Given the description of an element on the screen output the (x, y) to click on. 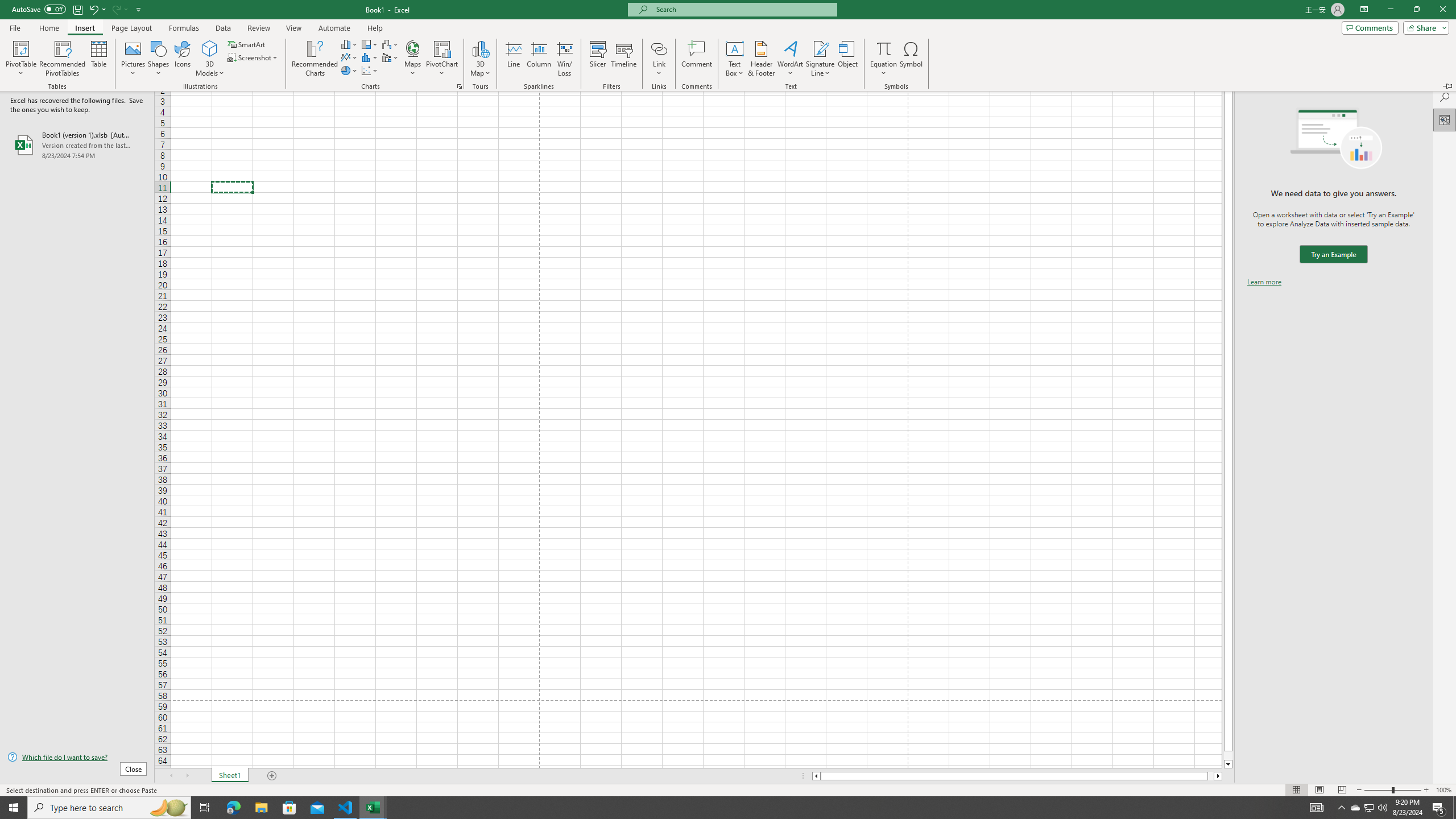
Data (223, 28)
Restore Down (1416, 9)
Customize Quick Access Toolbar (139, 9)
More Options (125, 9)
User Promoted Notification Area (1368, 807)
Visual Studio Code - 1 running window (345, 807)
Scroll Right (187, 775)
Excel - 2 running windows (373, 807)
AutomationID: 4105 (1316, 807)
Learn more (1264, 281)
